Given the description of an element on the screen output the (x, y) to click on. 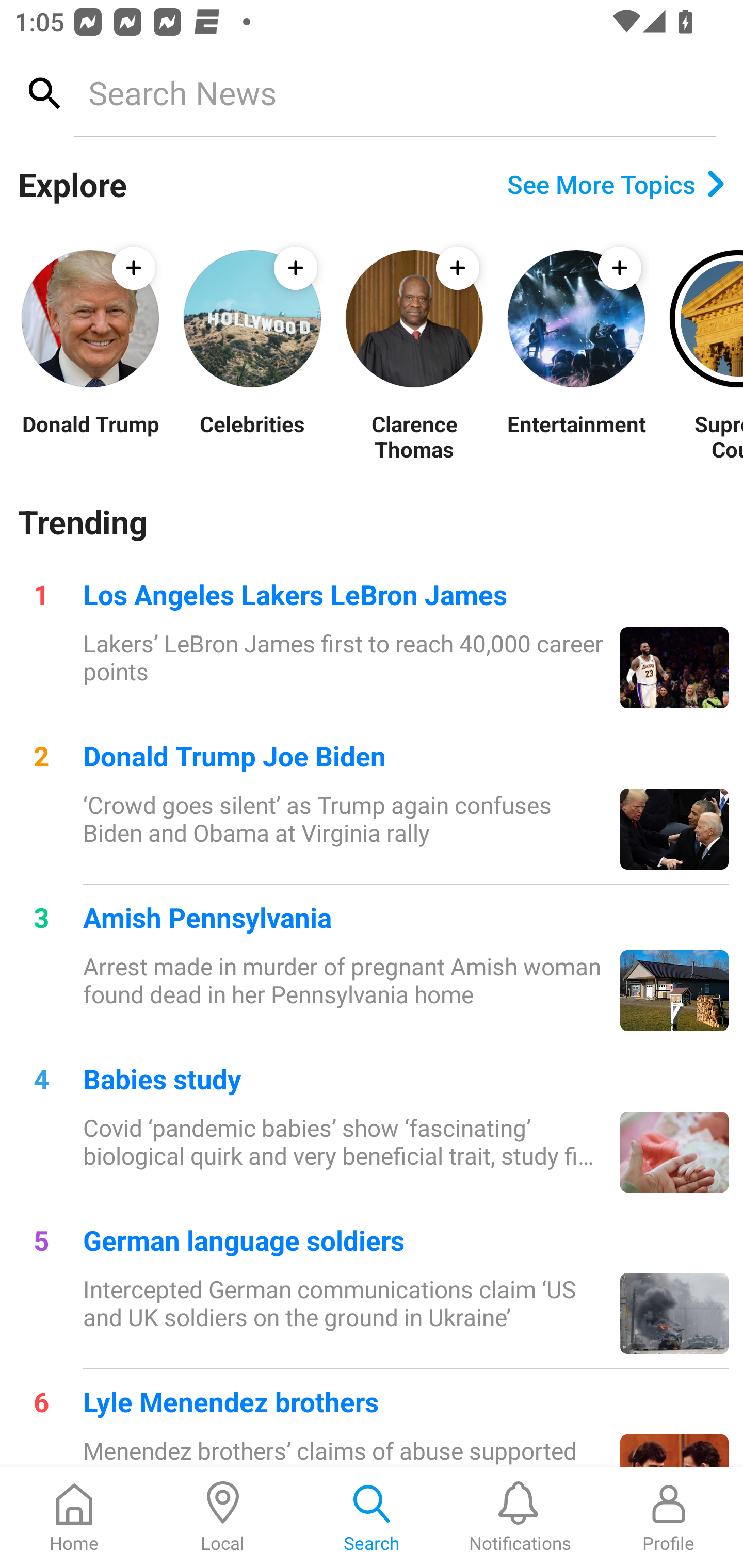
Search News (394, 92)
See More Topics (616, 183)
Donald Trump (89, 436)
Celebrities (251, 436)
Clarence Thomas (413, 436)
Entertainment (575, 436)
Home (74, 1517)
Local (222, 1517)
Notifications (519, 1517)
Profile (668, 1517)
